Given the description of an element on the screen output the (x, y) to click on. 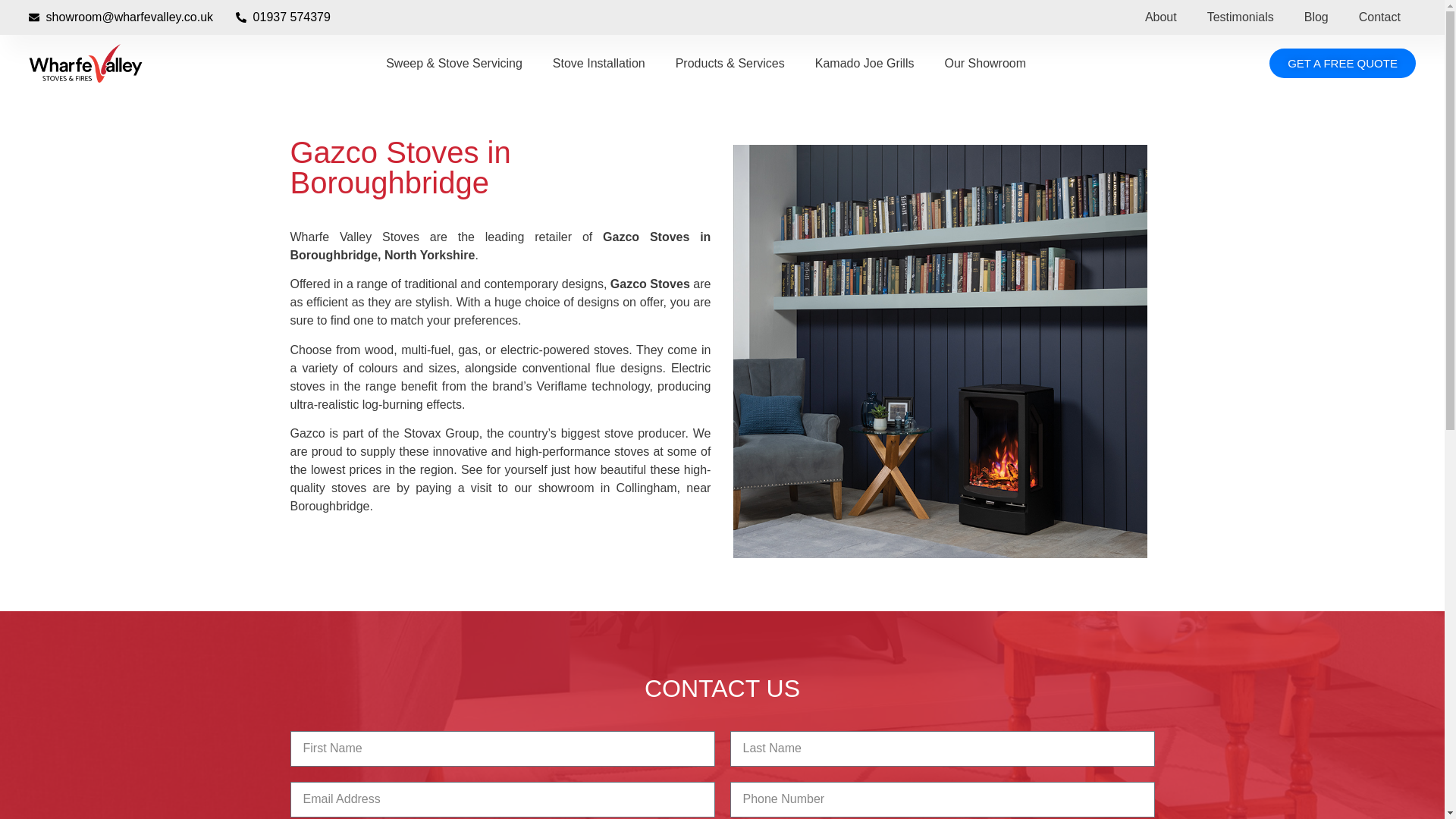
Contact (1379, 17)
Contact Wharfe Valley Stoves (1379, 17)
Wharfe Valley Stove Testimonials (1240, 17)
01937 574379 (282, 17)
Kamado Joe Grills (864, 62)
GET A FREE QUOTE (1342, 62)
Blog (1315, 17)
Stove Servicing (454, 62)
Stove Installation (599, 62)
About Wharfe Valley Stoves (1160, 17)
